Given the description of an element on the screen output the (x, y) to click on. 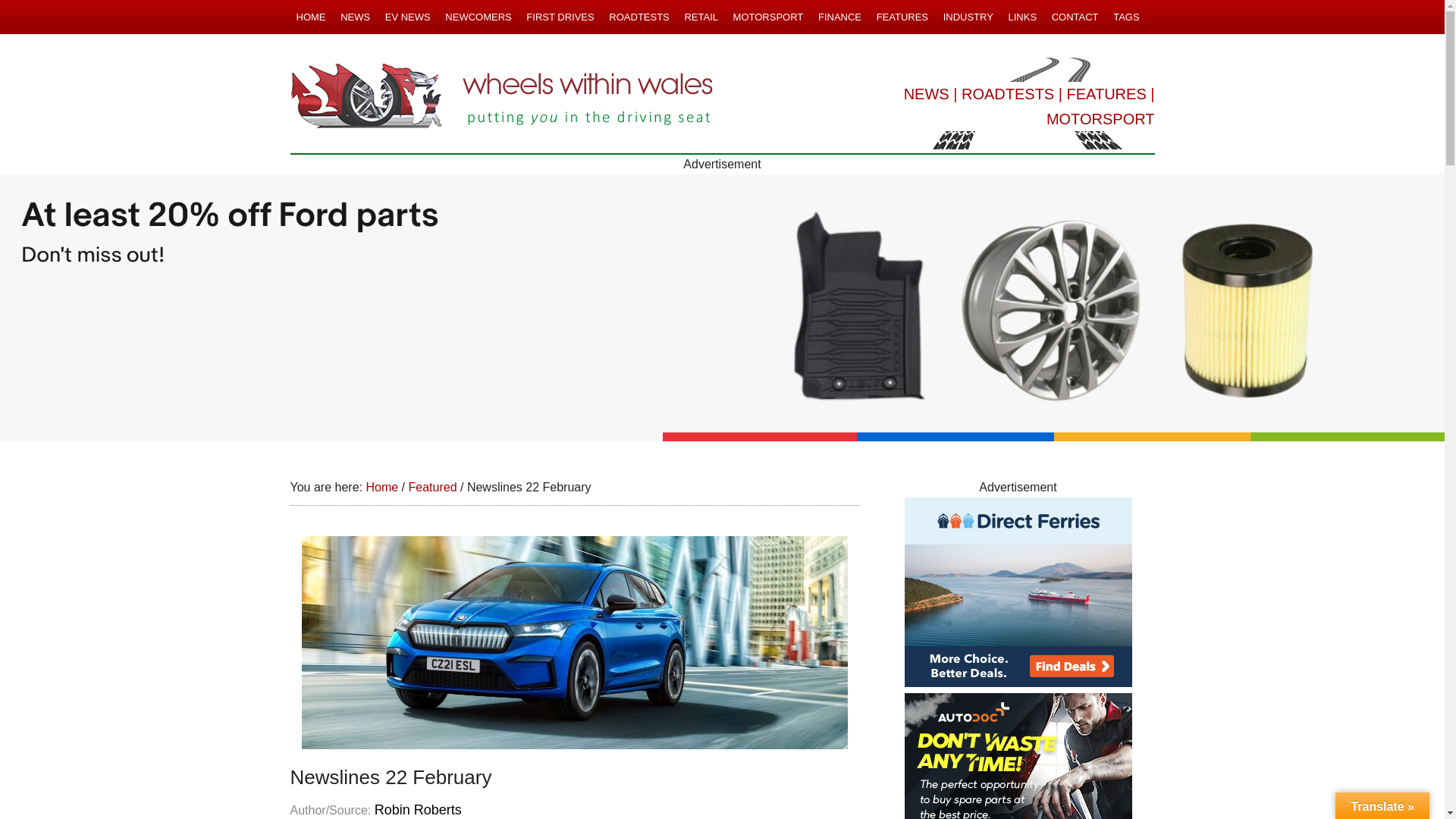
FEATURES (902, 17)
MOTORSPORT (767, 17)
Home (381, 486)
FEATURES (1107, 93)
EV NEWS (407, 17)
Wheels Within Wales (501, 96)
FIRST DRIVES (559, 17)
INDUSTRY (967, 17)
HOME (310, 17)
ROADTESTS (638, 17)
NEWS (926, 93)
LINKS (1021, 17)
CONTACT (1075, 17)
RETAIL (700, 17)
MOTORSPORT (1100, 118)
